Given the description of an element on the screen output the (x, y) to click on. 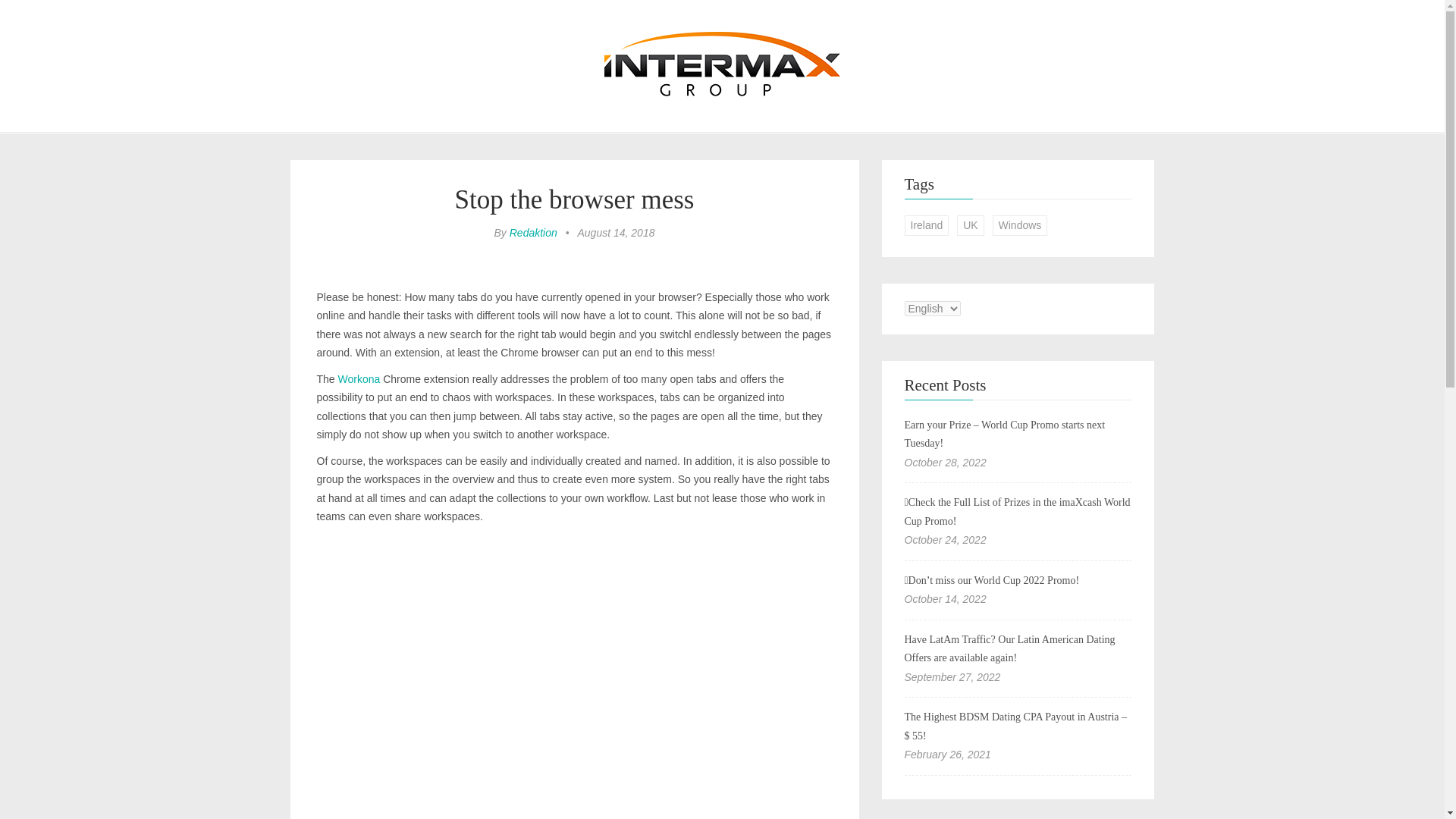
Windows (1020, 225)
Stop the browser mess (574, 199)
Ireland (926, 225)
UK (970, 225)
Posts by Redaktion (533, 232)
Redaktion (533, 232)
Workona (358, 378)
